Given the description of an element on the screen output the (x, y) to click on. 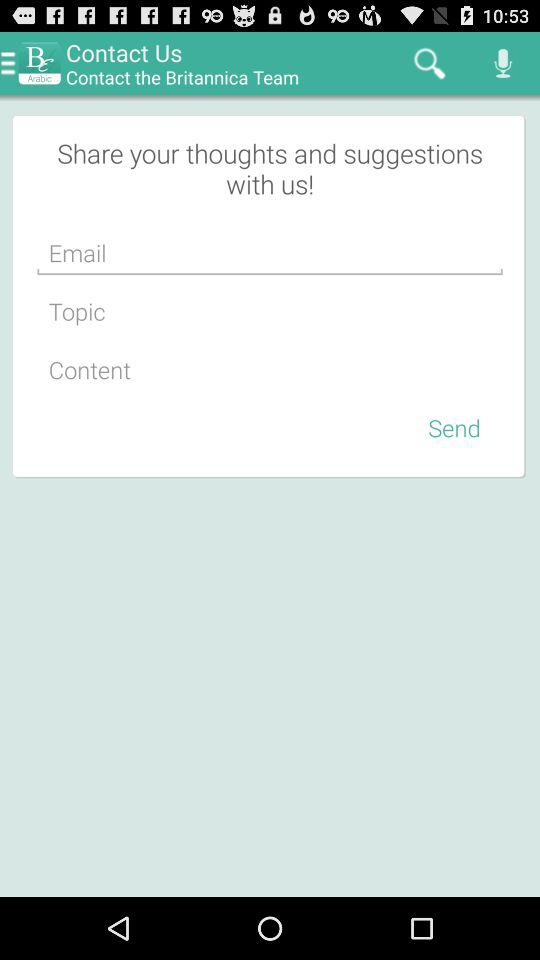
tap item next to the contact the britannica app (429, 62)
